Given the description of an element on the screen output the (x, y) to click on. 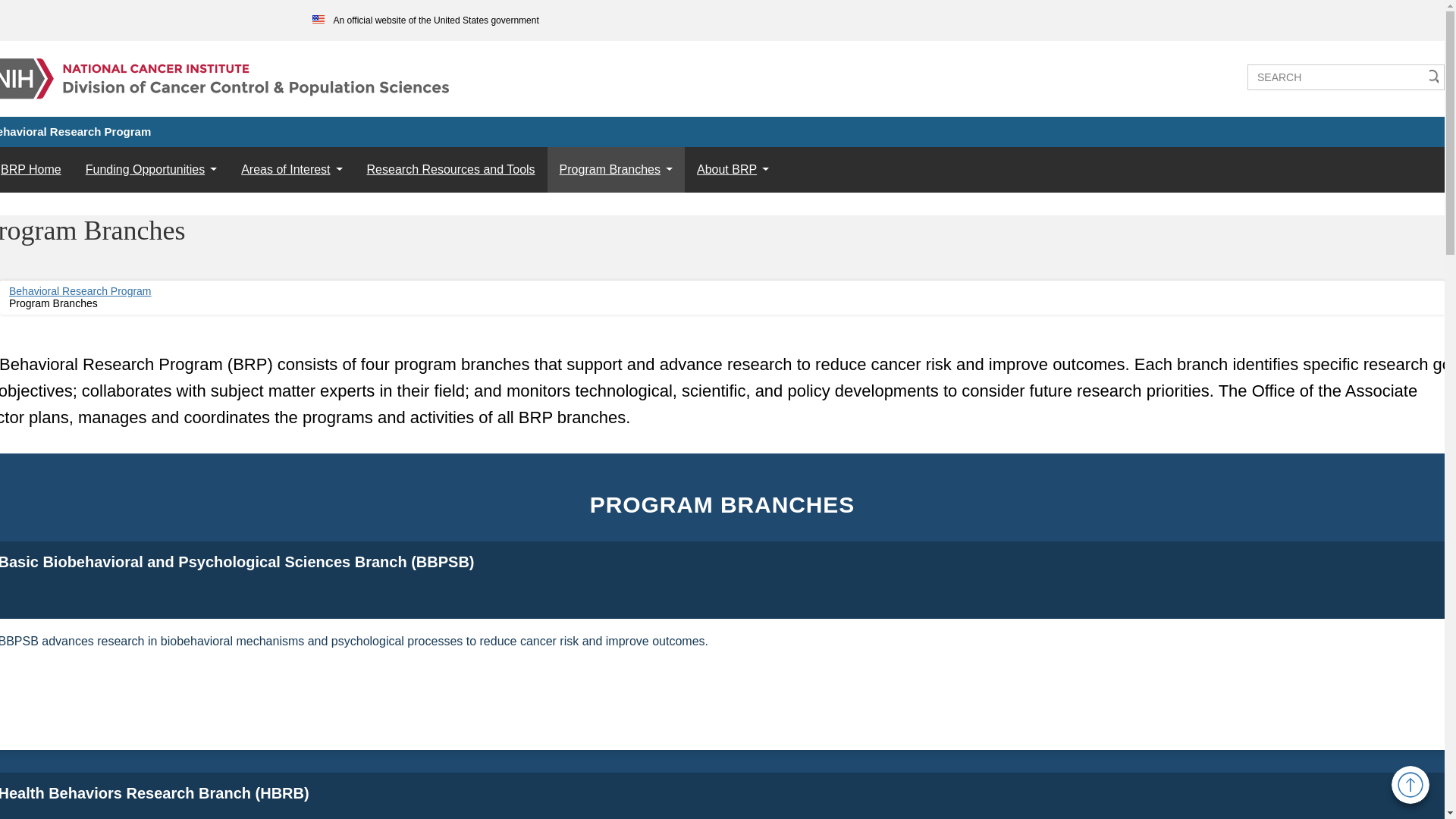
Home (225, 69)
Back to Top (1410, 784)
